Given the description of an element on the screen output the (x, y) to click on. 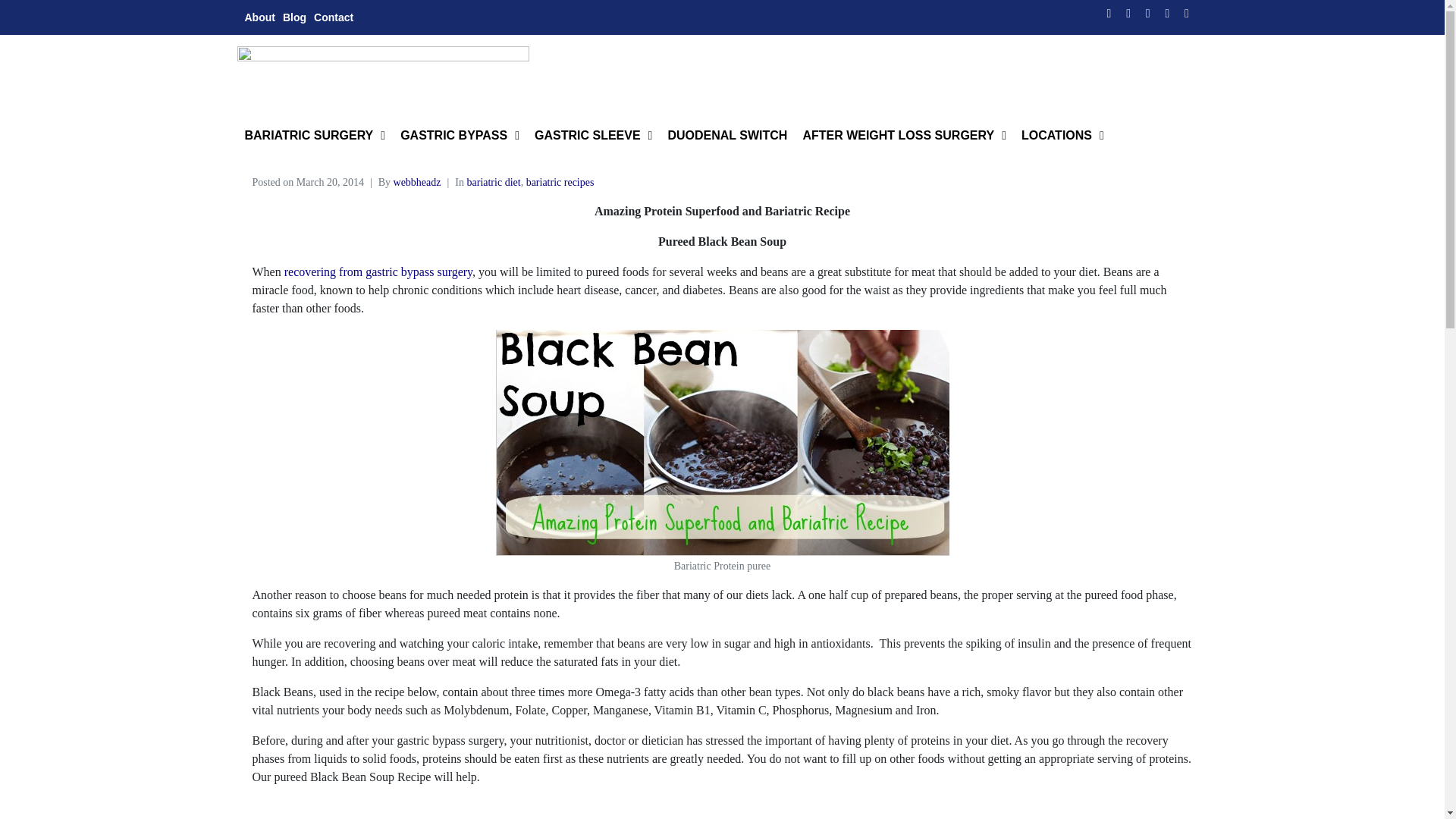
Contact (333, 17)
BARIATRIC SURGERY (314, 135)
About (259, 17)
Blog (293, 17)
